Given the description of an element on the screen output the (x, y) to click on. 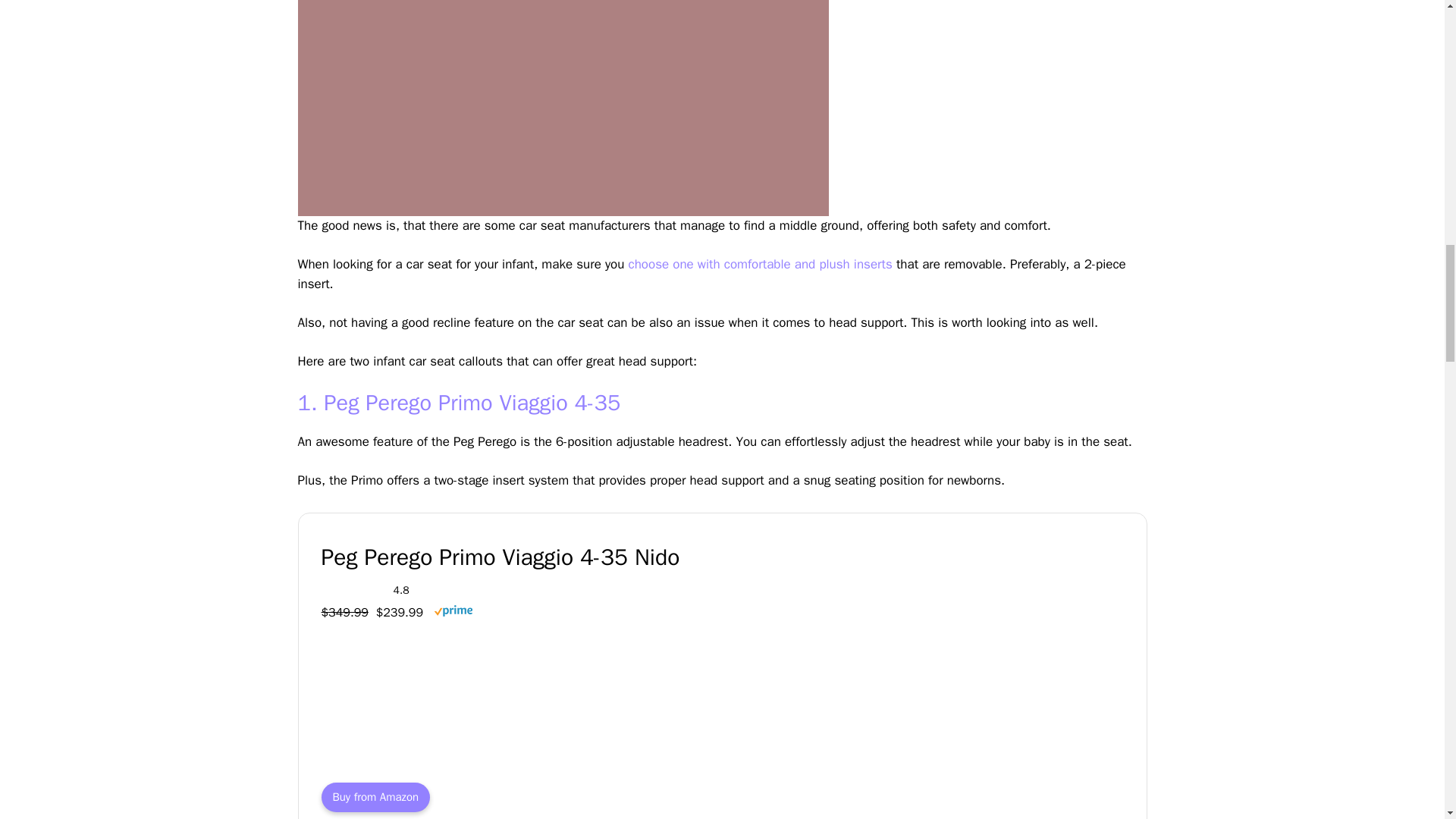
Peg Perego Primo Viaggio 4-35 Nido (596, 557)
Peg Perego Primo Viaggio 4-35 Nido (1007, 764)
Peg Perego Primo Viaggio 4-35 Nido (375, 797)
